Given the description of an element on the screen output the (x, y) to click on. 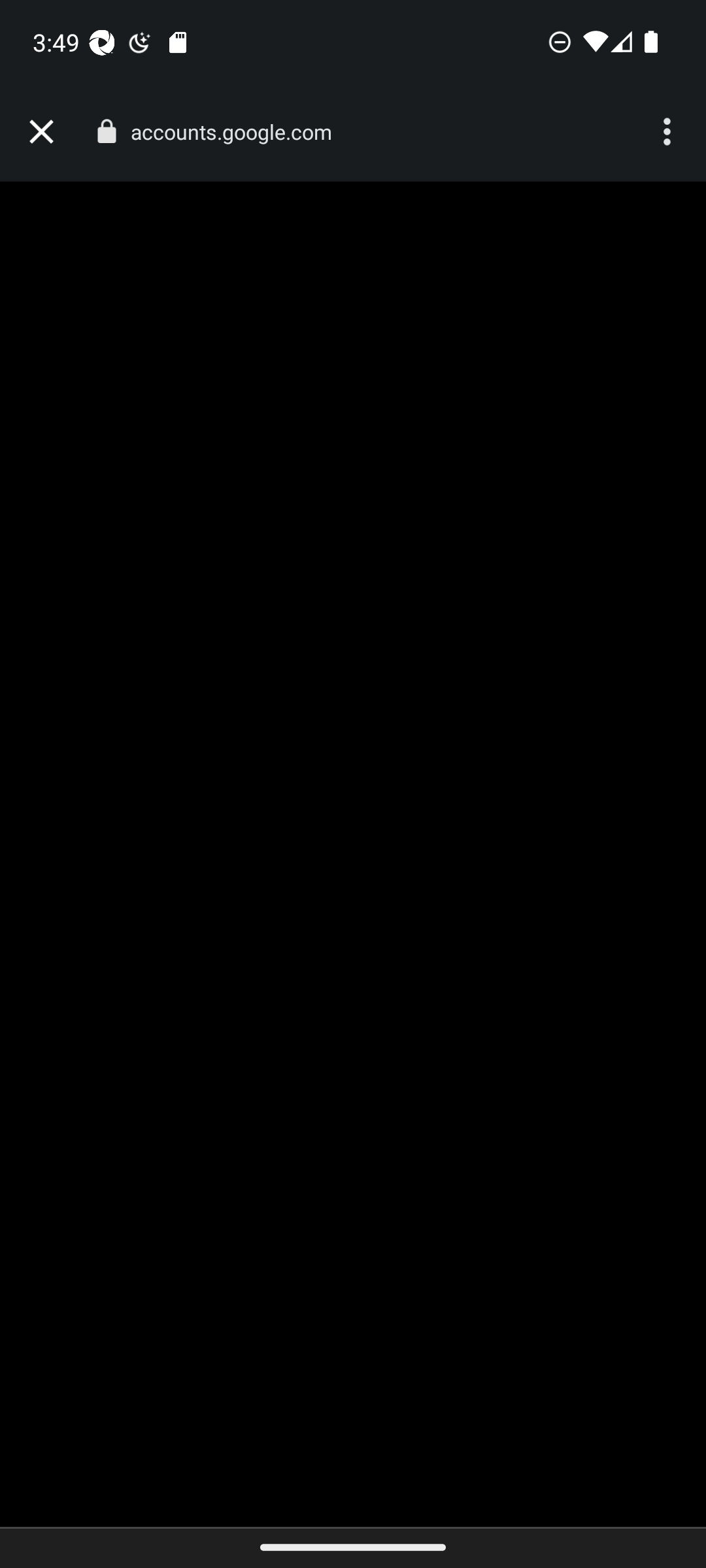
Close tab (41, 131)
More options (669, 131)
Connection is secure (106, 131)
accounts.google.com (237, 131)
